Given the description of an element on the screen output the (x, y) to click on. 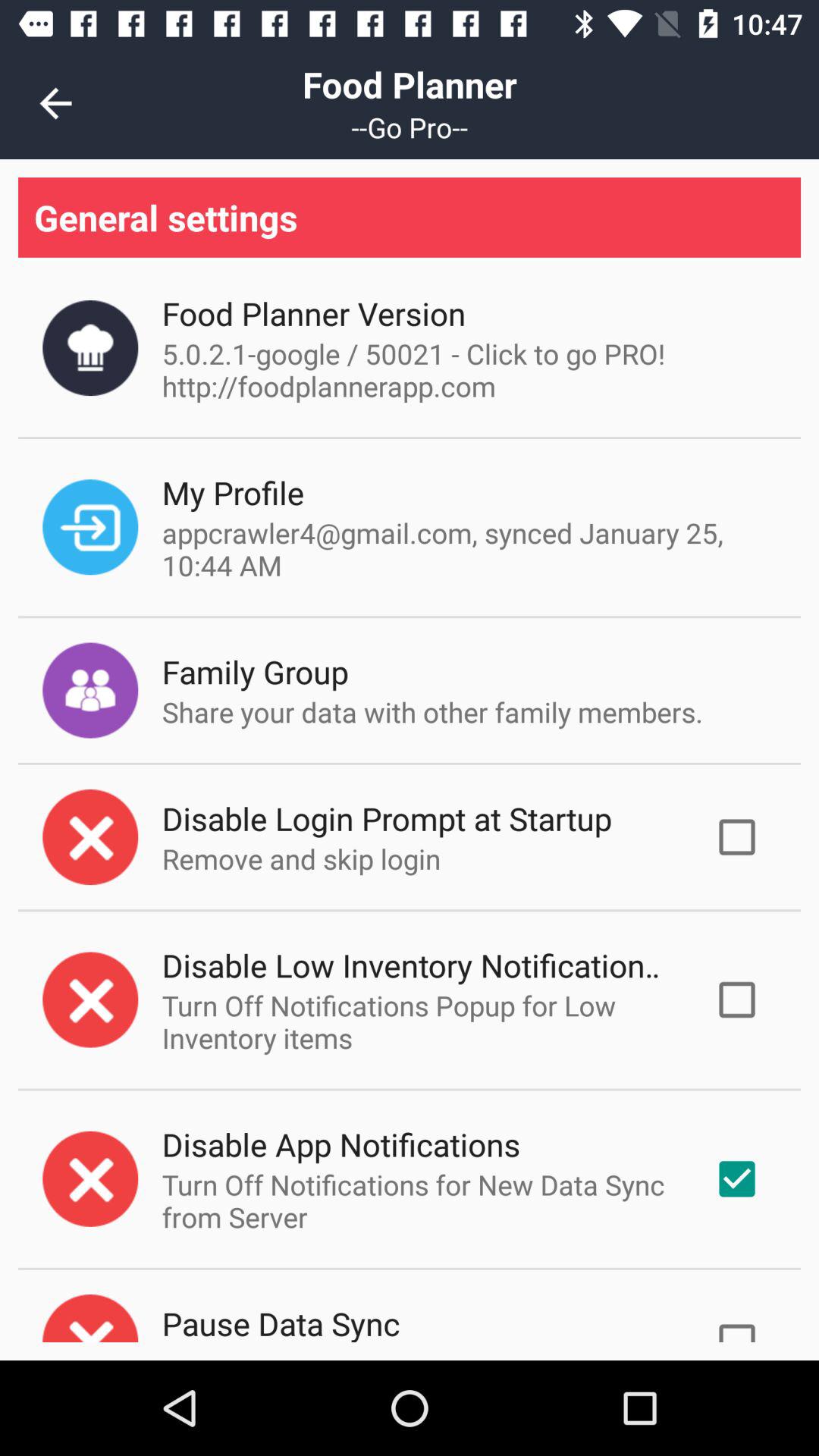
tap icon above the my profile (417, 369)
